Given the description of an element on the screen output the (x, y) to click on. 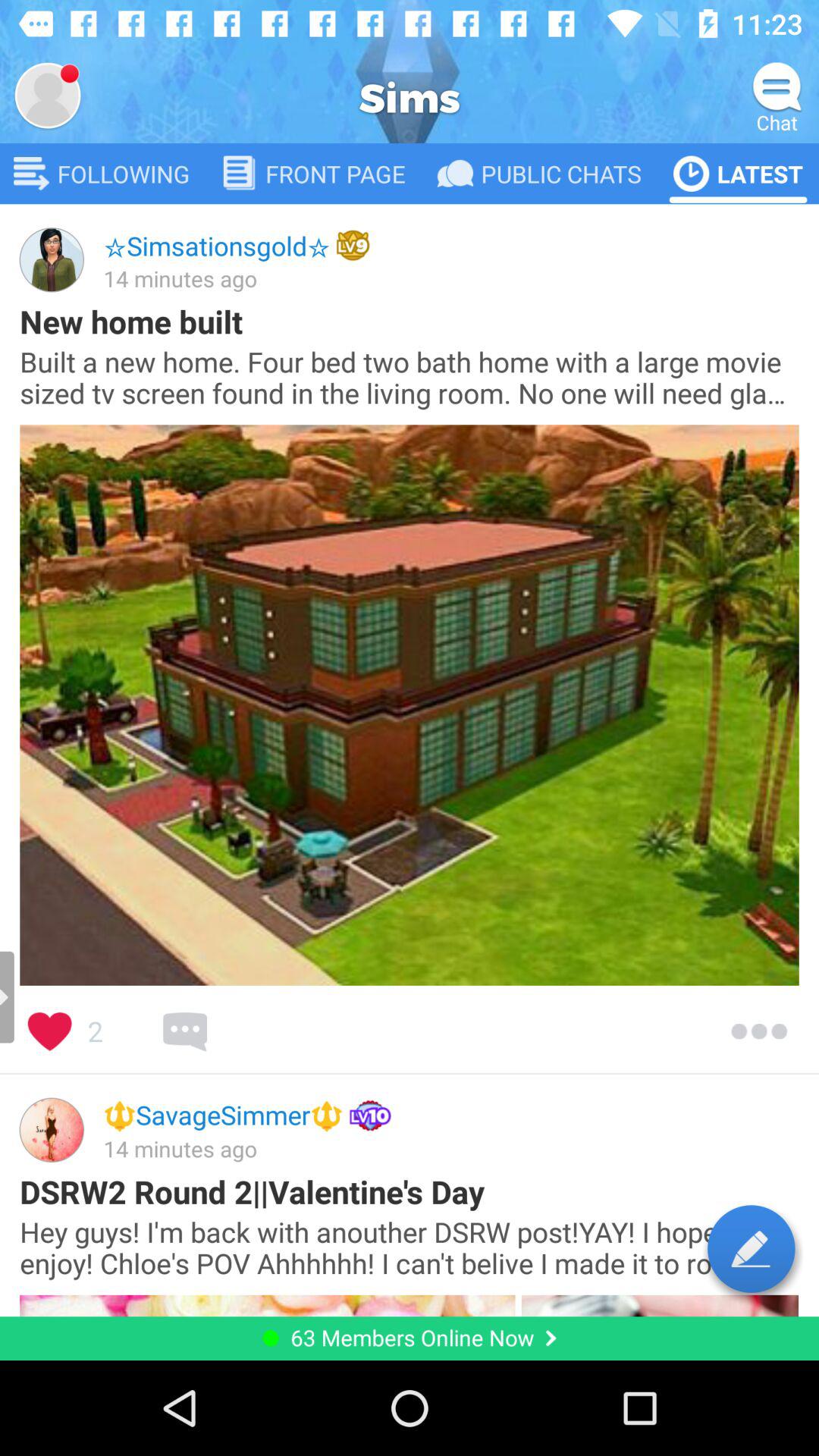
profile notifications (47, 95)
